Given the description of an element on the screen output the (x, y) to click on. 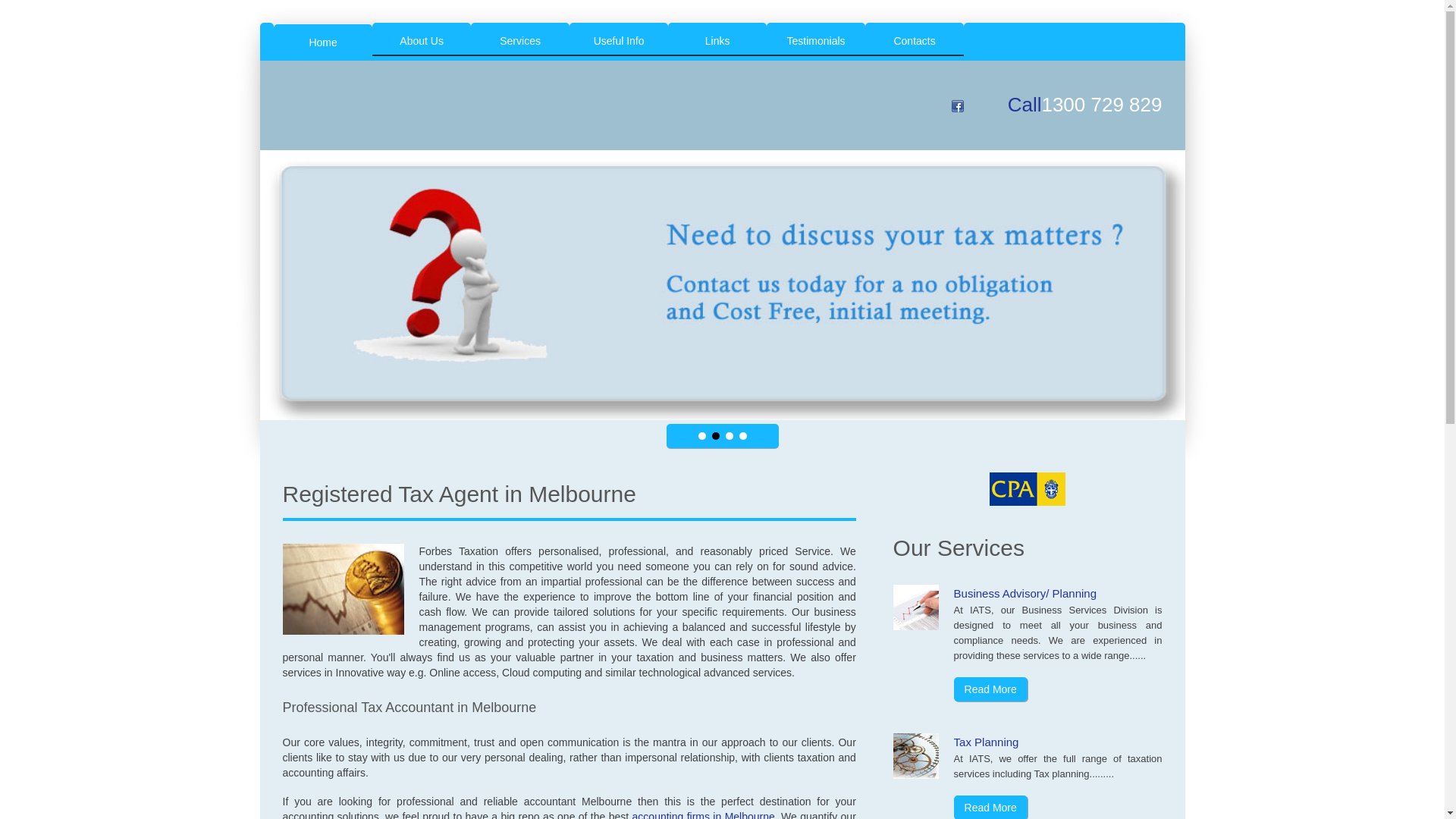
1 Element type: text (701, 435)
4 Element type: text (742, 435)
Read More Element type: text (990, 689)
2 Element type: text (714, 435)
Contacts Element type: text (914, 39)
Tax Planning Element type: text (986, 741)
Useful Info Element type: text (618, 39)
Links Element type: text (717, 39)
Business Advisory/ Planning Element type: text (1024, 592)
Testimonials Element type: text (815, 39)
Services Element type: text (519, 39)
3 Element type: text (728, 435)
1300 729 829 Element type: text (1101, 104)
About Us Element type: text (421, 39)
Home Element type: text (322, 40)
